Given the description of an element on the screen output the (x, y) to click on. 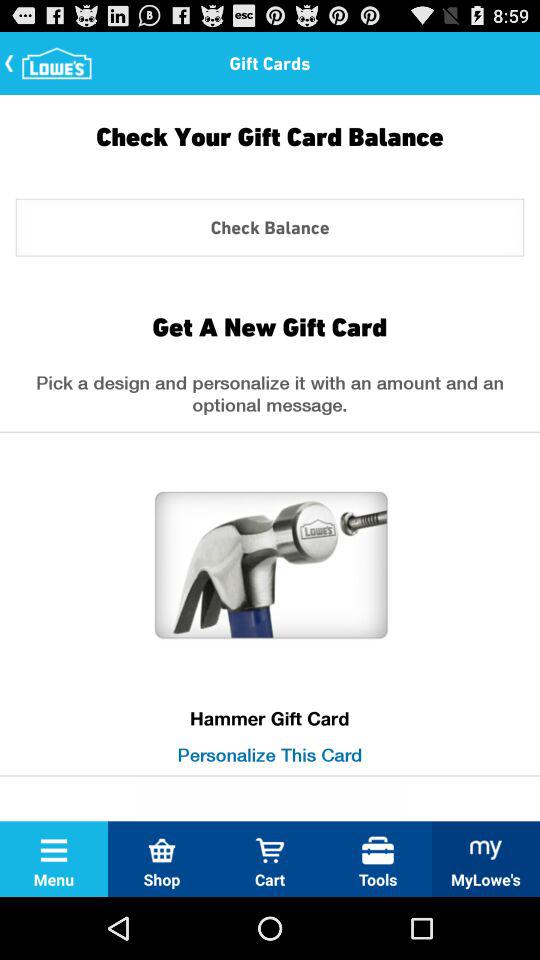
choose icon above the check balance item (269, 151)
